Given the description of an element on the screen output the (x, y) to click on. 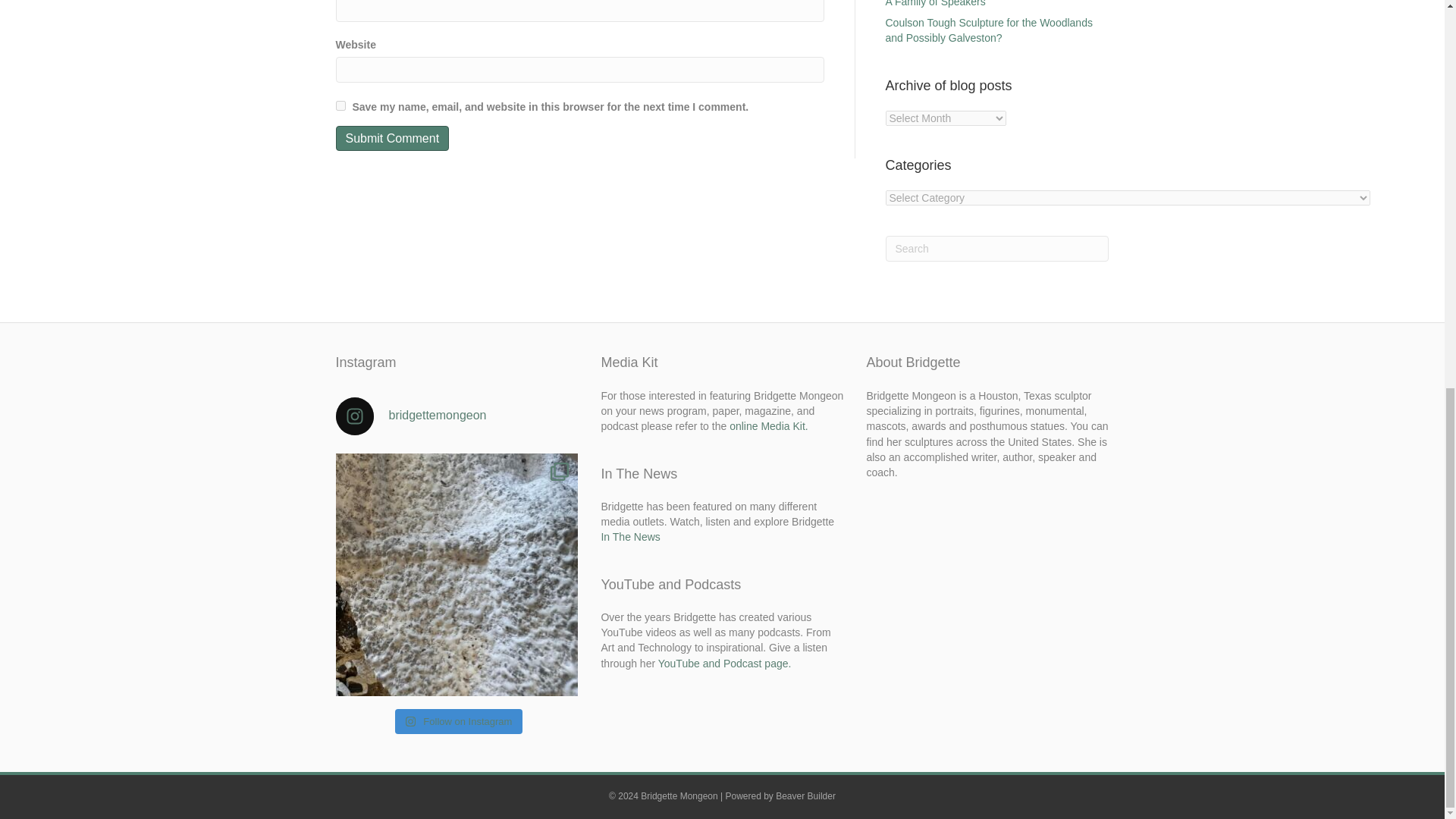
yes (339, 105)
Type and press Enter to search. (997, 248)
WordPress Page Builder Plugin (805, 796)
Submit Comment (391, 138)
